Given the description of an element on the screen output the (x, y) to click on. 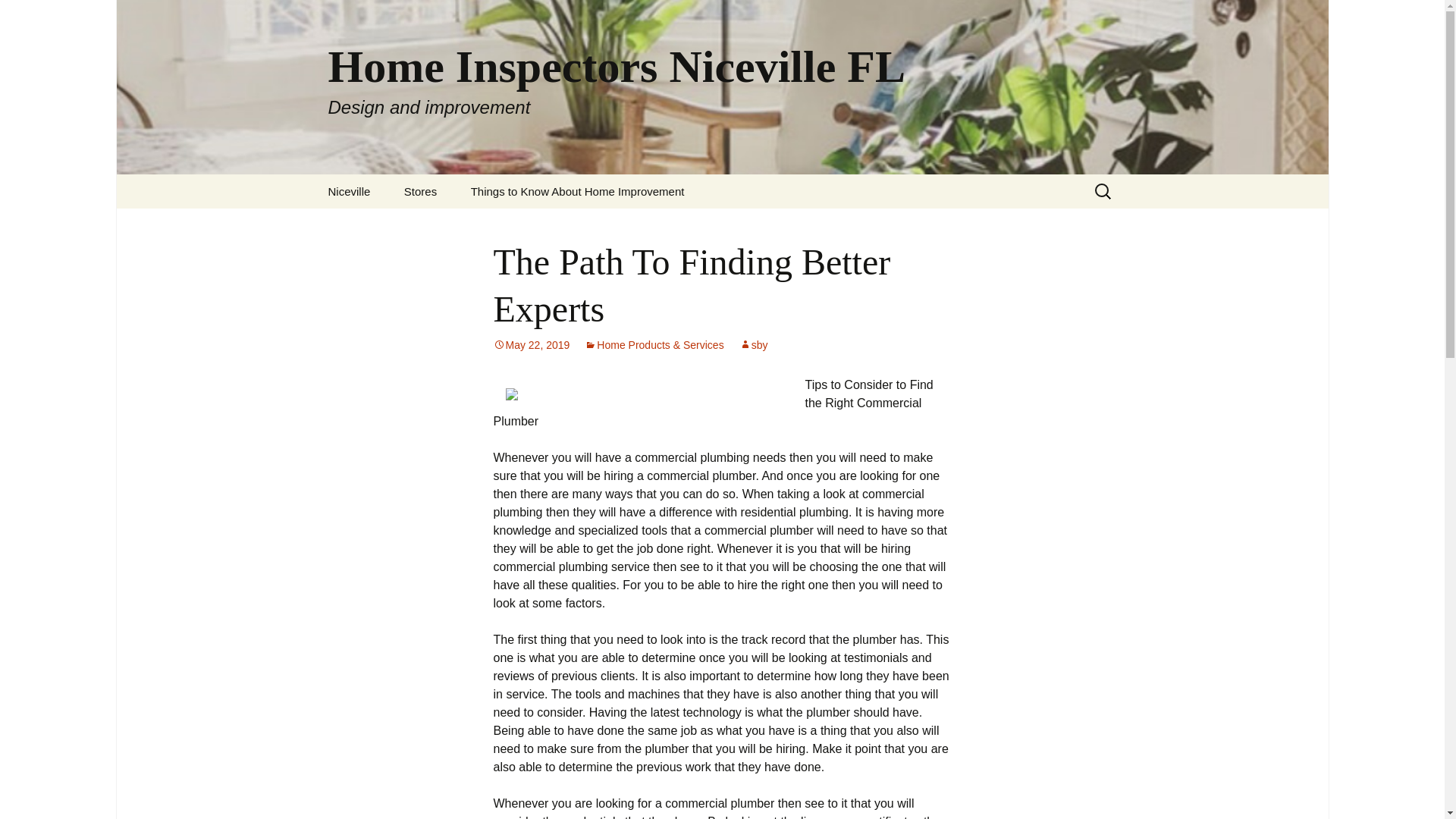
Stores (419, 191)
View all posts by sby (753, 345)
Permalink to The Path To Finding Better Experts (531, 345)
sby (753, 345)
Things to Know About Home Improvement (577, 191)
Search (34, 15)
Search (349, 191)
May 22, 2019 (18, 15)
